Given the description of an element on the screen output the (x, y) to click on. 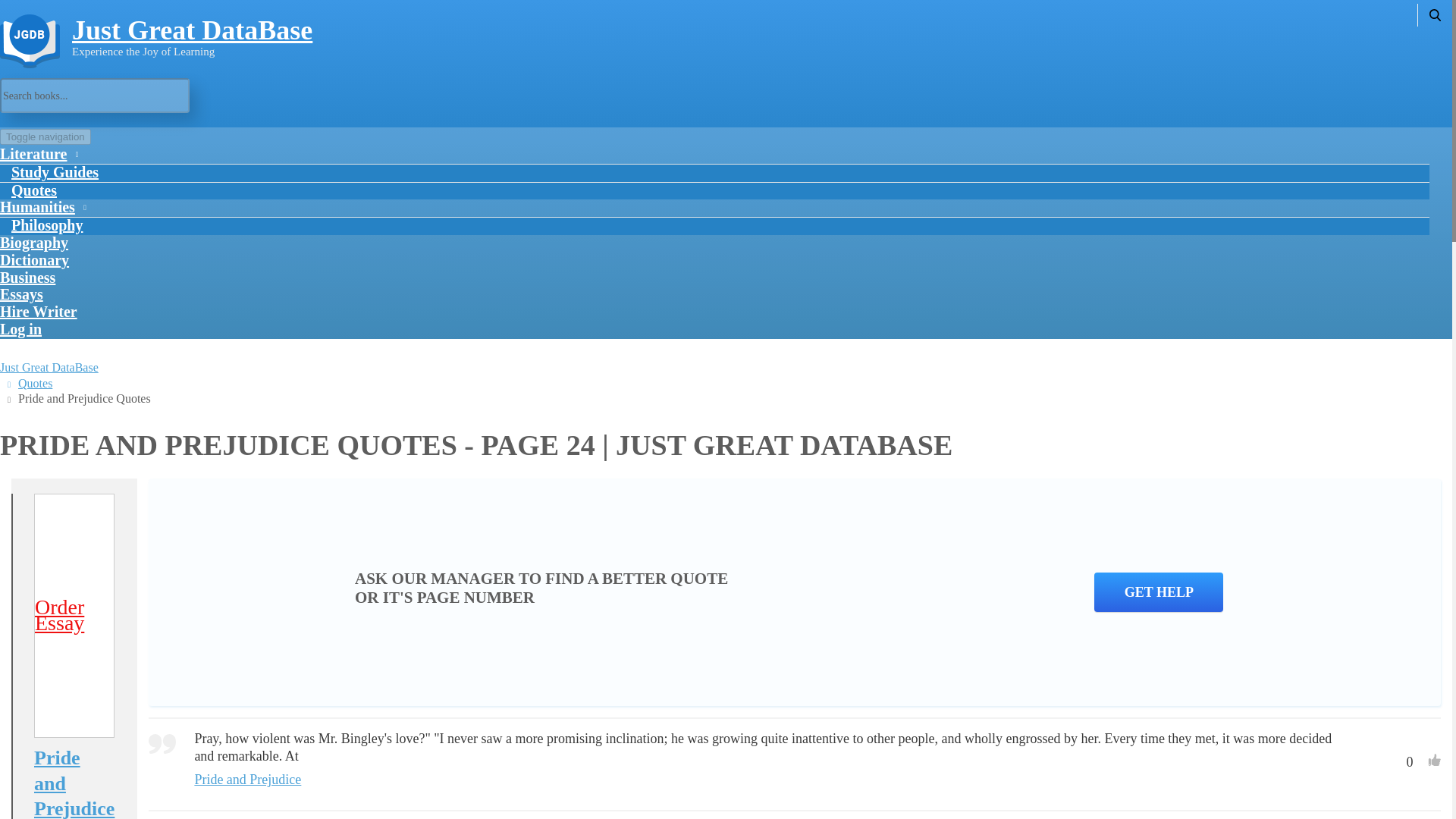
Quotes (34, 190)
Literature (37, 153)
Toggle navigation (45, 136)
Pride and Prejudice (74, 782)
Biography (34, 242)
Business (27, 277)
GET HELP (1158, 591)
Essays (21, 294)
Humanities (41, 206)
Dictionary (34, 259)
Log in (21, 328)
Order Essay (73, 615)
Pride and Prejudice (247, 779)
Quotes (34, 382)
Just Great DataBase (192, 30)
